Given the description of an element on the screen output the (x, y) to click on. 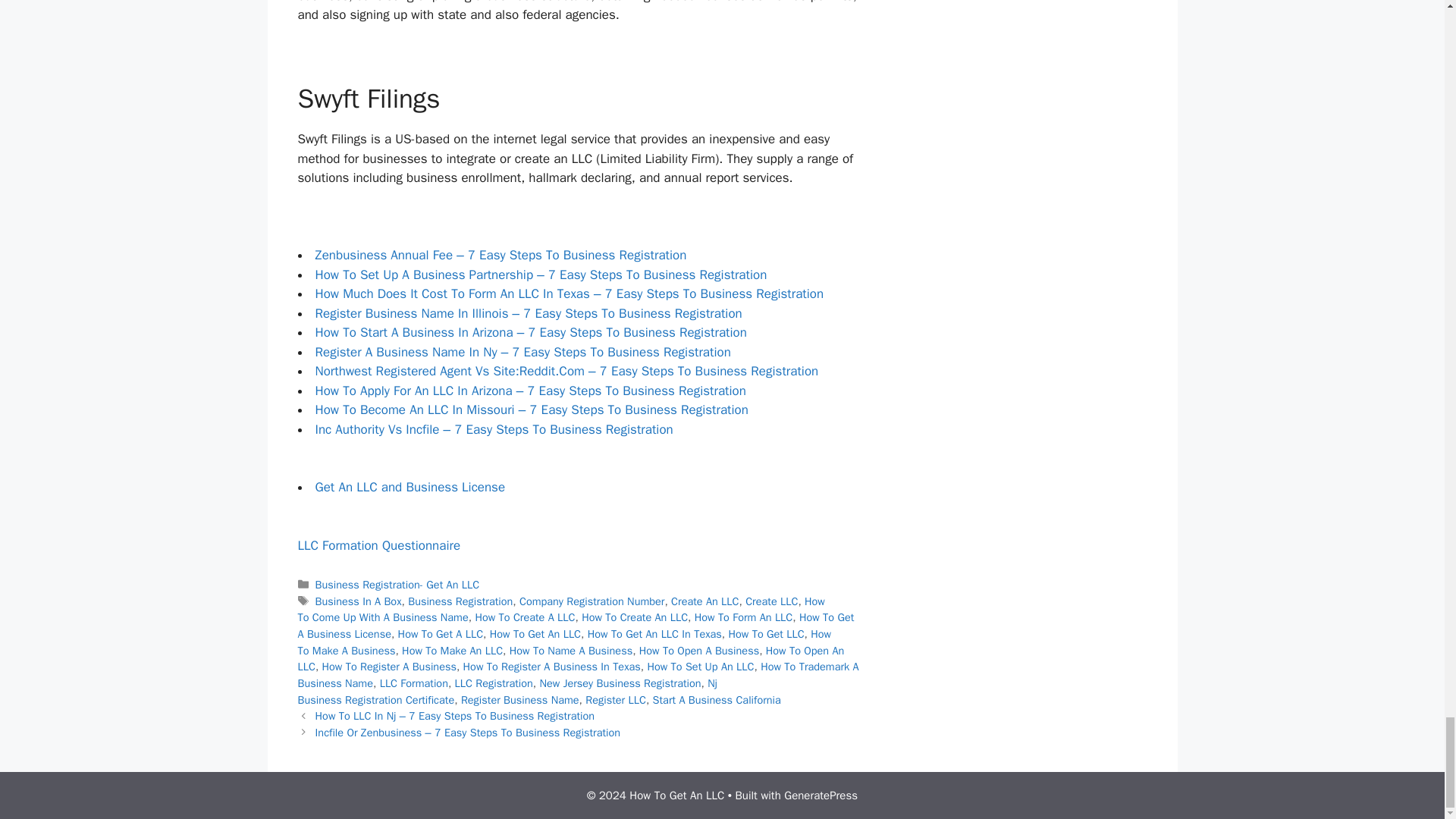
Business Registration (459, 601)
How To Come Up With A Business Name (560, 609)
Business Registration- Get An LLC (397, 584)
Business In A Box (358, 601)
Create LLC (771, 601)
LLC Formation Questionnaire (378, 545)
Company Registration Number (591, 601)
Get An LLC and Business License (410, 487)
Create An LLC (704, 601)
